Given the description of an element on the screen output the (x, y) to click on. 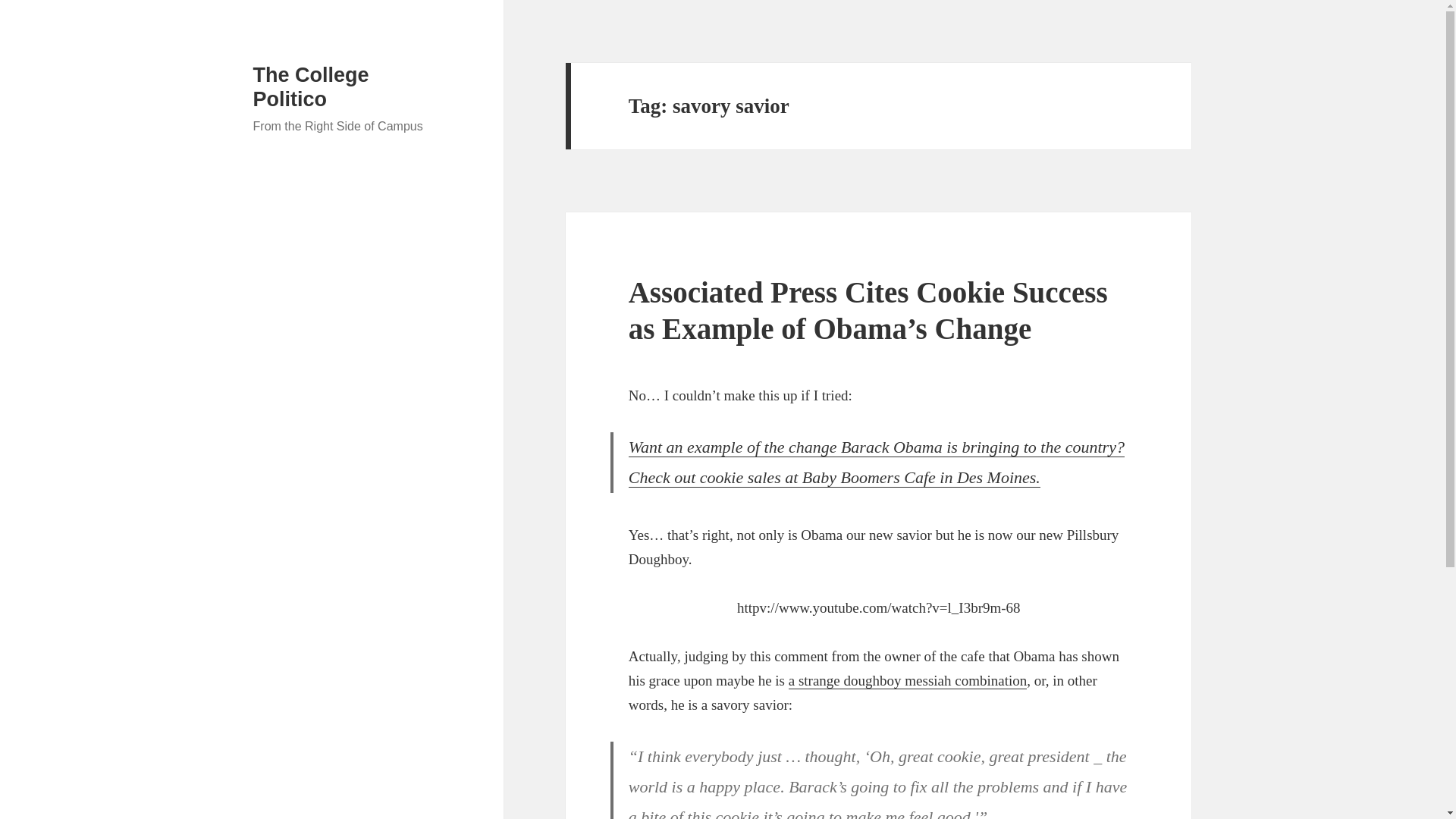
a strange doughboy messiah combination (908, 680)
DC Examiner (876, 462)
The College Politico (311, 86)
Creepy (908, 680)
